Given the description of an element on the screen output the (x, y) to click on. 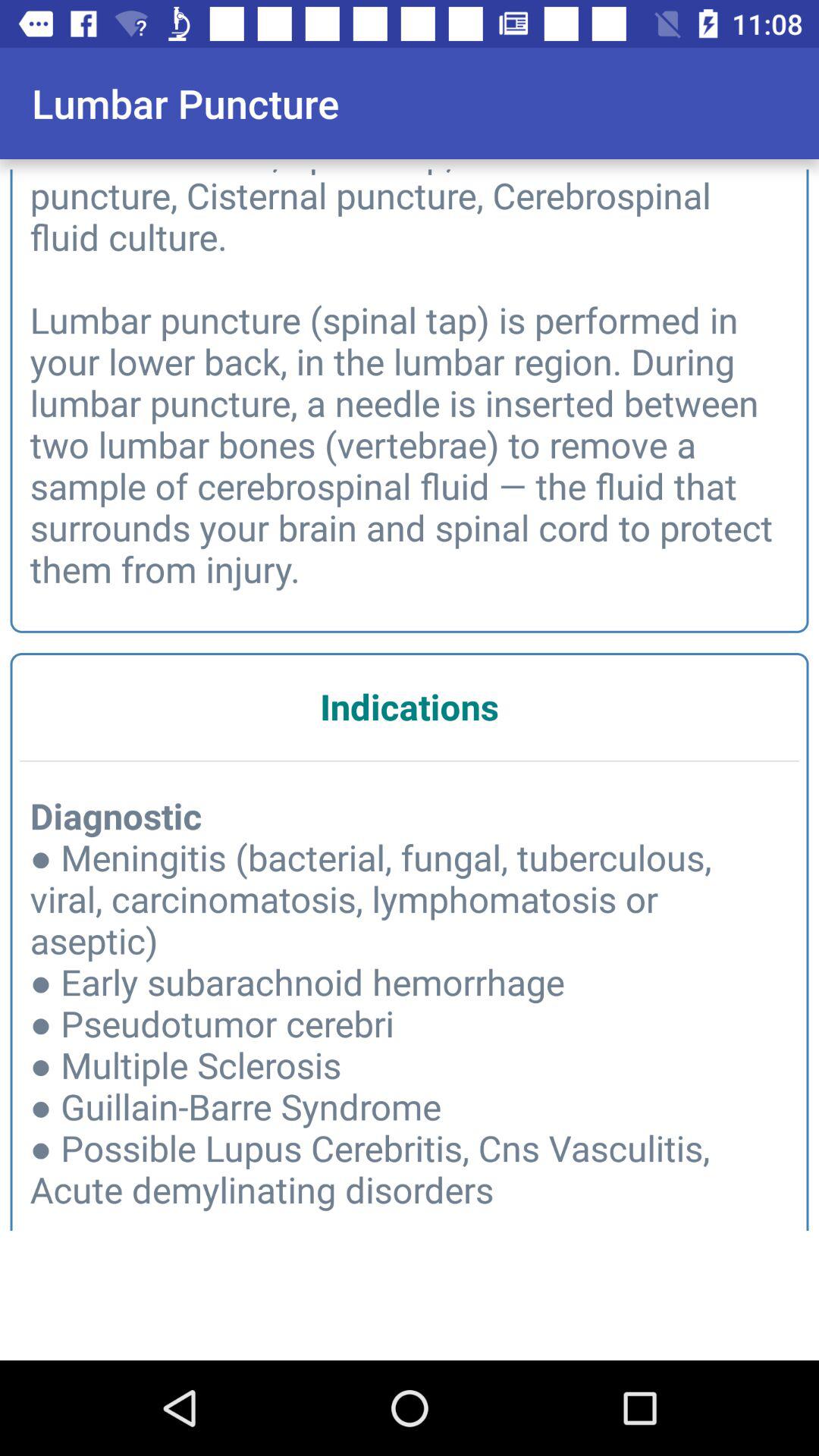
choose the icon above the indications icon (409, 376)
